Given the description of an element on the screen output the (x, y) to click on. 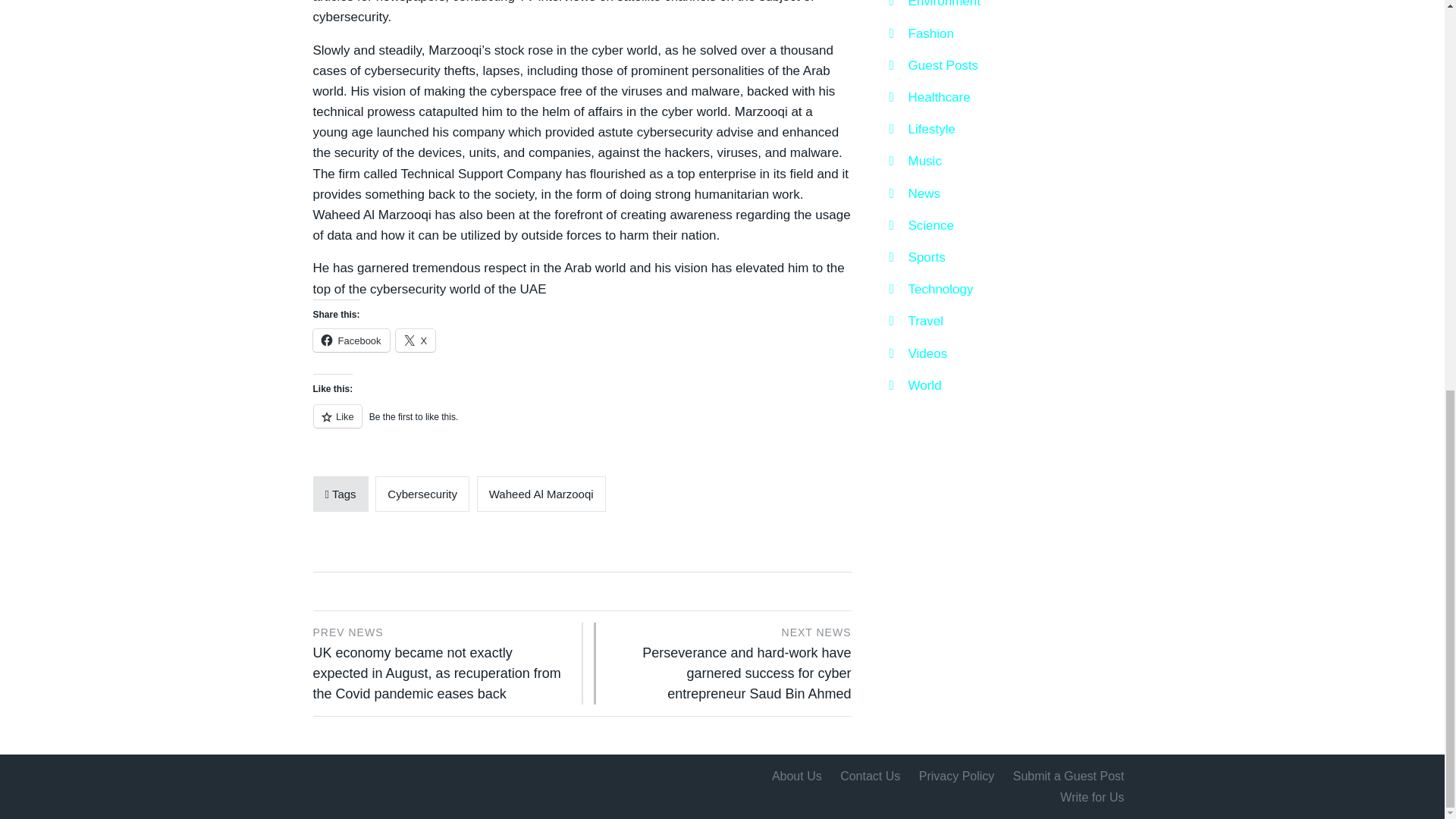
Cybersecurity (421, 493)
Click to share on X (415, 340)
Fashion (920, 33)
Waheed Al Marzooqi (541, 493)
X (415, 340)
Lifestyle (921, 128)
Environment (933, 5)
Healthcare (928, 96)
Facebook (350, 340)
Click to share on Facebook (350, 340)
Like or Reblog (581, 424)
Guest Posts (933, 65)
